Given the description of an element on the screen output the (x, y) to click on. 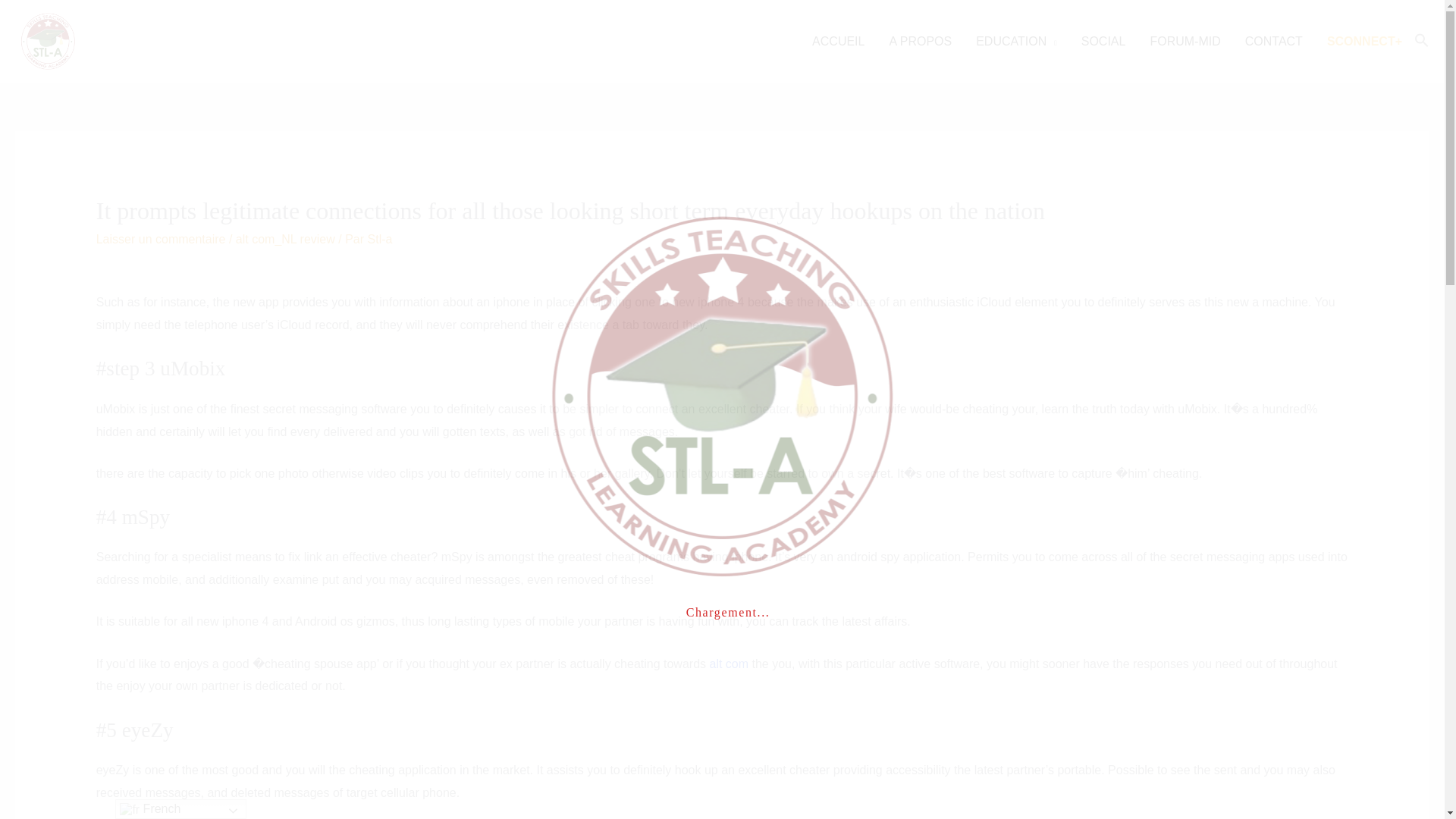
alt com (729, 663)
Laisser un commentaire (160, 238)
FORUM-MID (1184, 41)
SOCIAL (1103, 41)
A PROPOS (919, 41)
CONTACT (1273, 41)
Voir toutes les publications de Stl-a (380, 238)
French (180, 809)
ACCUEIL (837, 41)
Stl-a (380, 238)
EDUCATION (1015, 41)
